Given the description of an element on the screen output the (x, y) to click on. 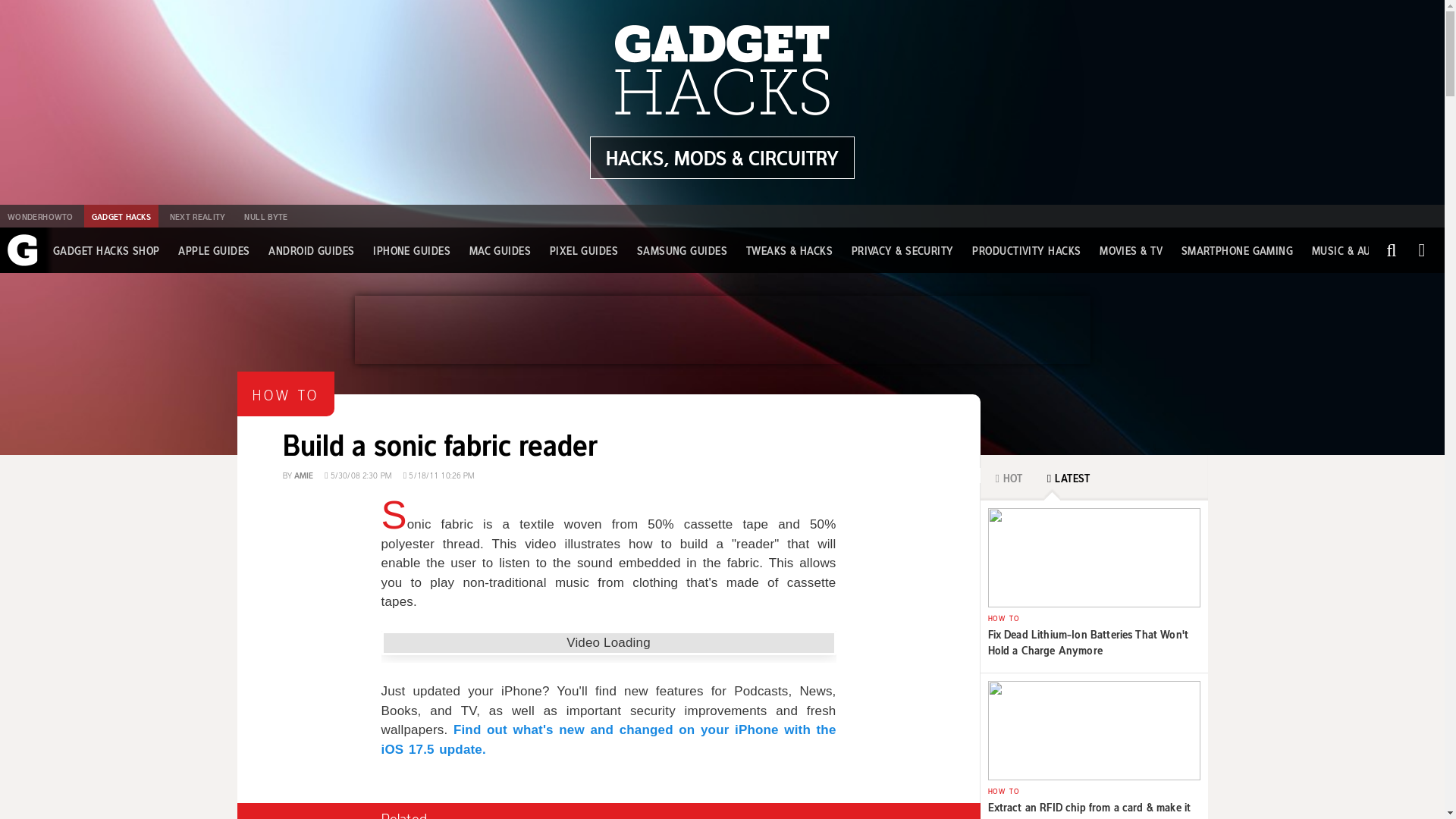
MAC GUIDES (499, 249)
SAMSUNG GUIDES (681, 249)
APPLE GUIDES (212, 249)
SMARTPHONE GAMING (608, 428)
IPHONE GUIDES (1237, 249)
join others in hacking, modding, and circuit design (410, 249)
AMIE (721, 157)
